Given the description of an element on the screen output the (x, y) to click on. 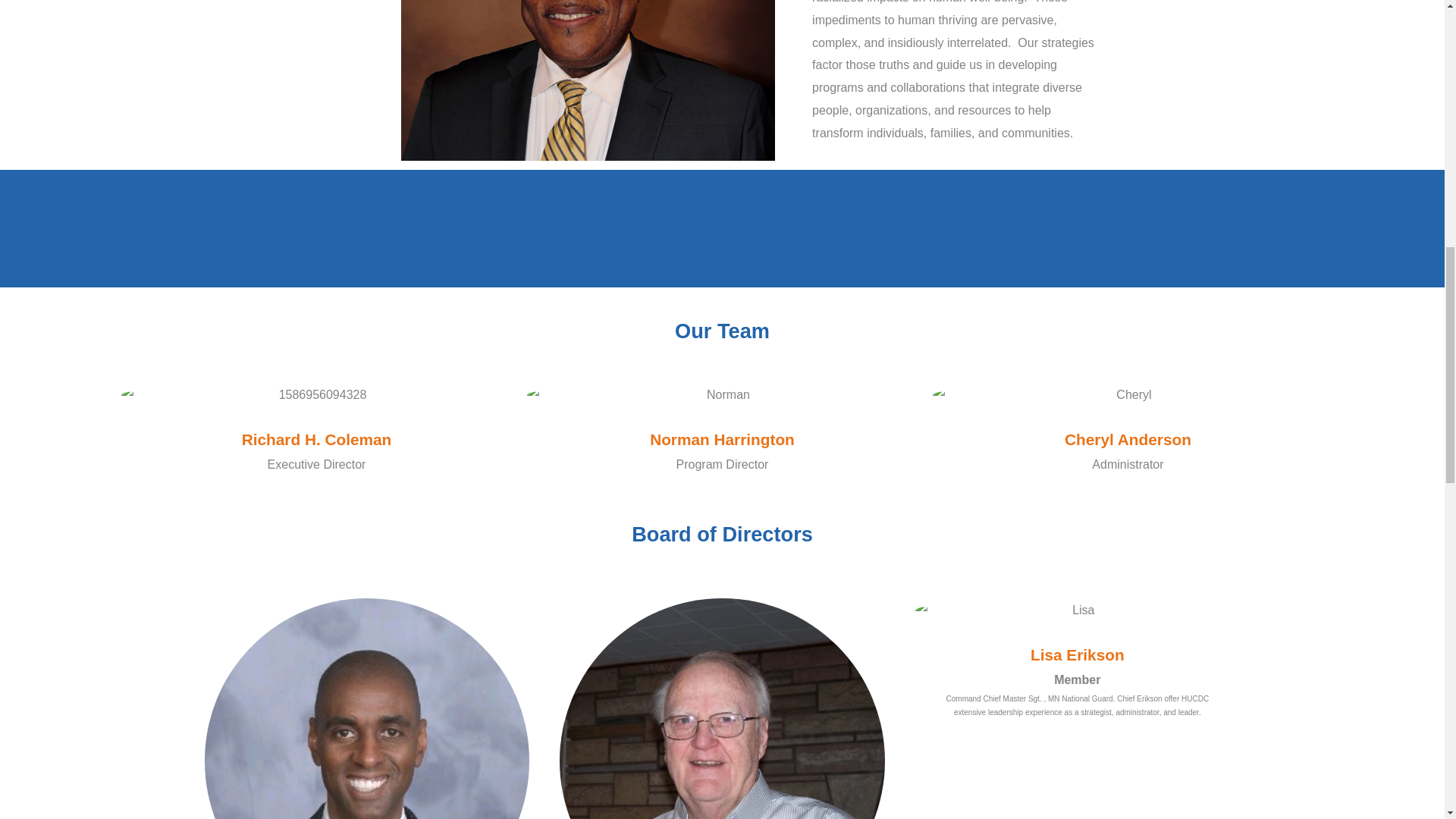
Cheryl (1128, 395)
1586956094328 (316, 395)
Norman (722, 395)
Lisa (1077, 609)
